Given the description of an element on the screen output the (x, y) to click on. 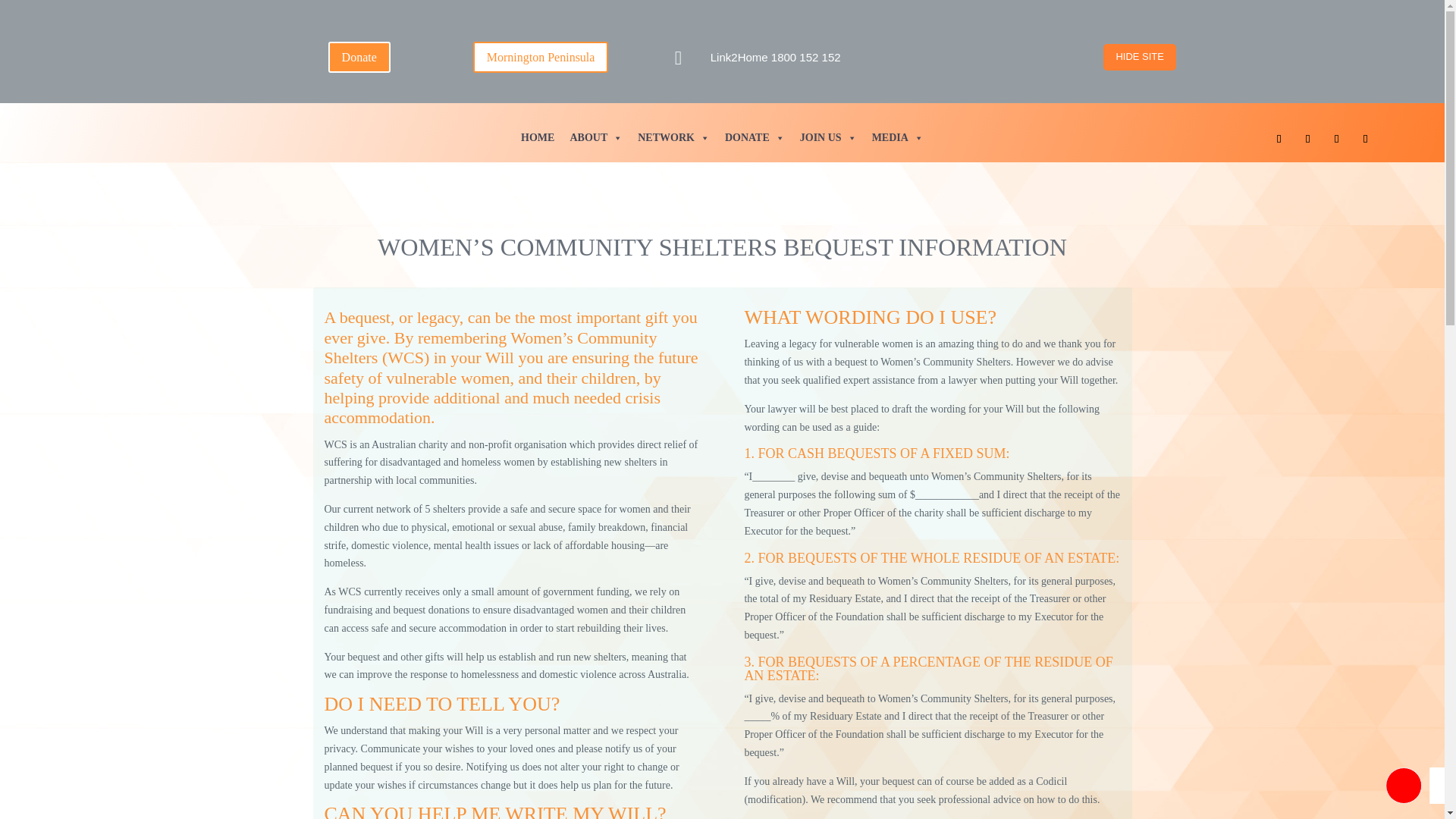
MEDIA (897, 137)
Follow on X (1365, 138)
Follow on Instagram (1308, 138)
JOIN US (828, 137)
Link2Home 1800 152 152 (775, 56)
HIDE SITE (1139, 56)
ABOUT (596, 137)
Follow on Facebook (1279, 138)
HOME (537, 137)
NETWORK (673, 137)
Donate (359, 56)
Follow on LinkedIn (1336, 138)
DONATE (754, 137)
Mornington Peninsula (540, 56)
